Given the description of an element on the screen output the (x, y) to click on. 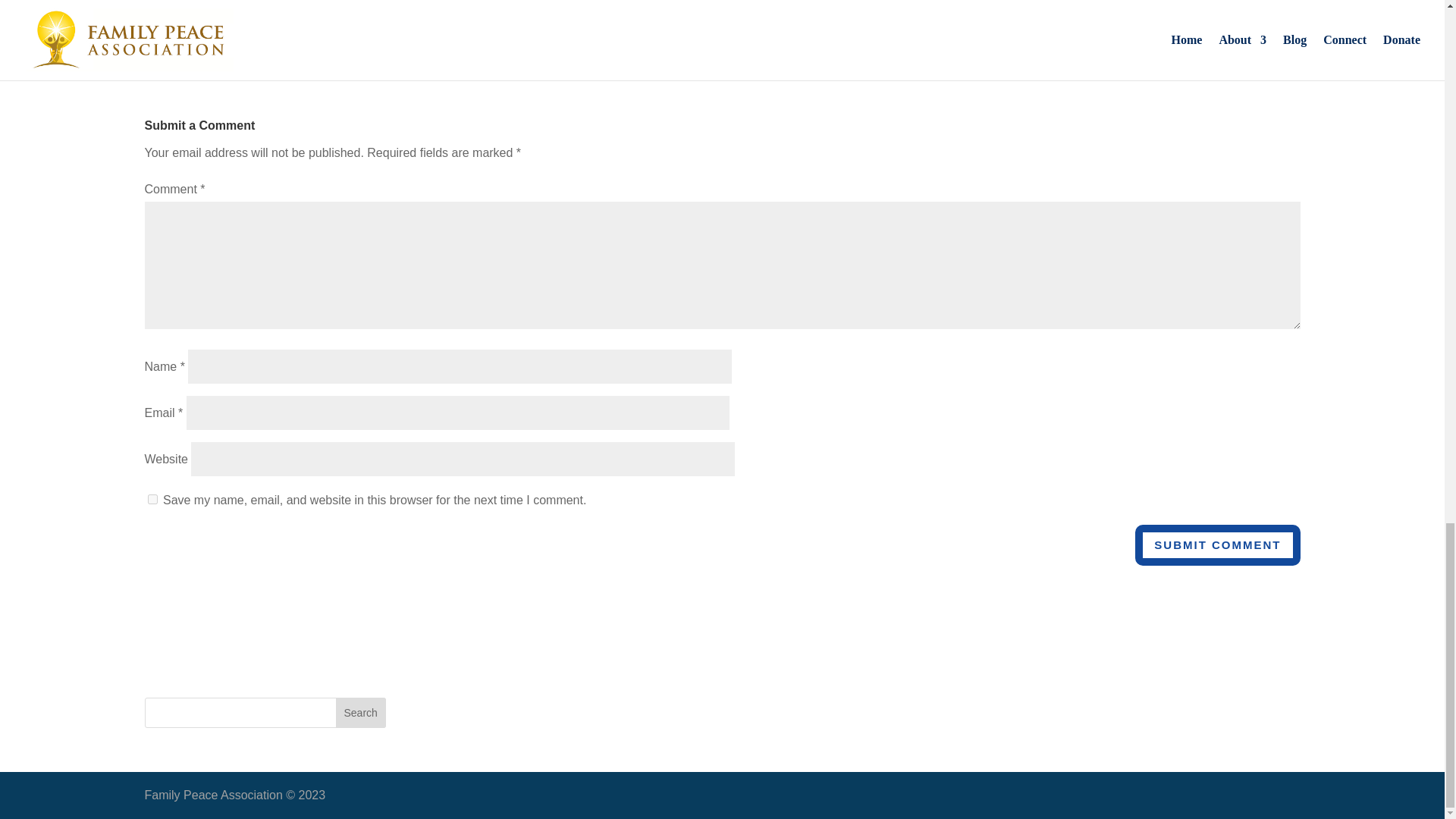
Submit Comment (1217, 545)
Search (360, 712)
Submit Comment (1217, 545)
Search (360, 712)
yes (152, 499)
